Given the description of an element on the screen output the (x, y) to click on. 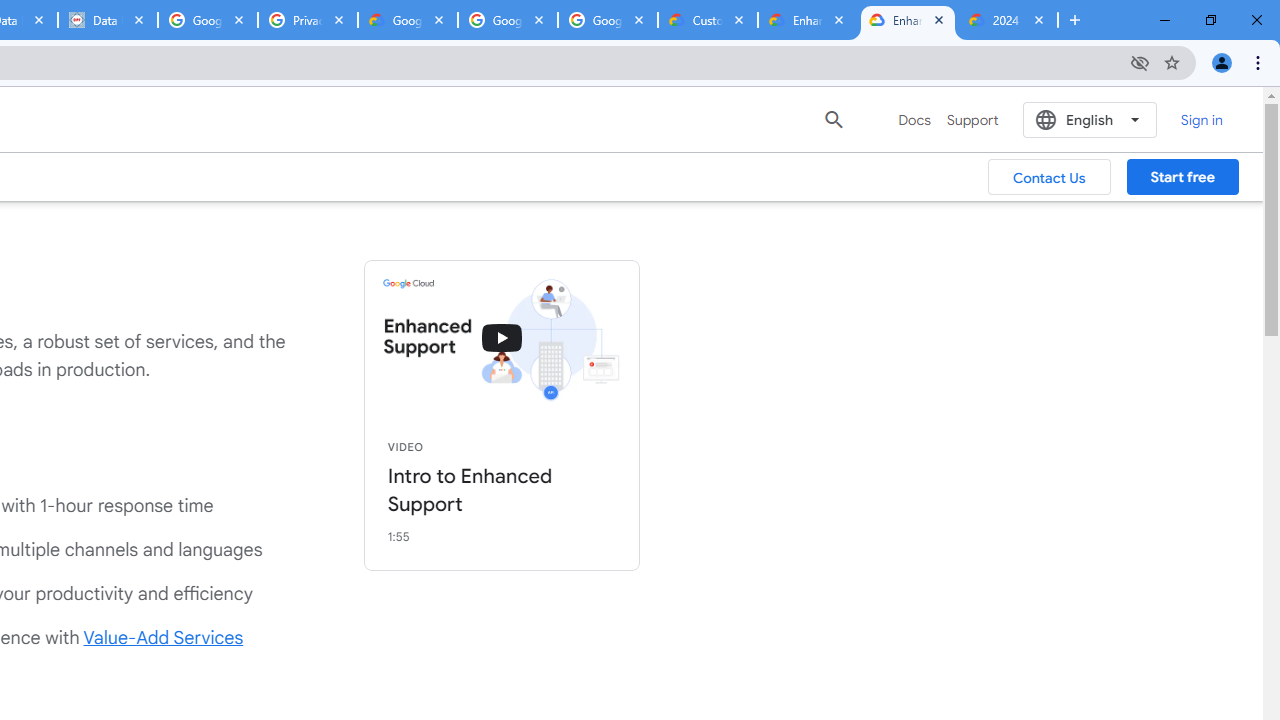
Start free (1182, 177)
Google Cloud Terms Directory | Google Cloud (408, 20)
Google Workspace - Specific Terms (607, 20)
Enhanced Support in action (501, 337)
